Given the description of an element on the screen output the (x, y) to click on. 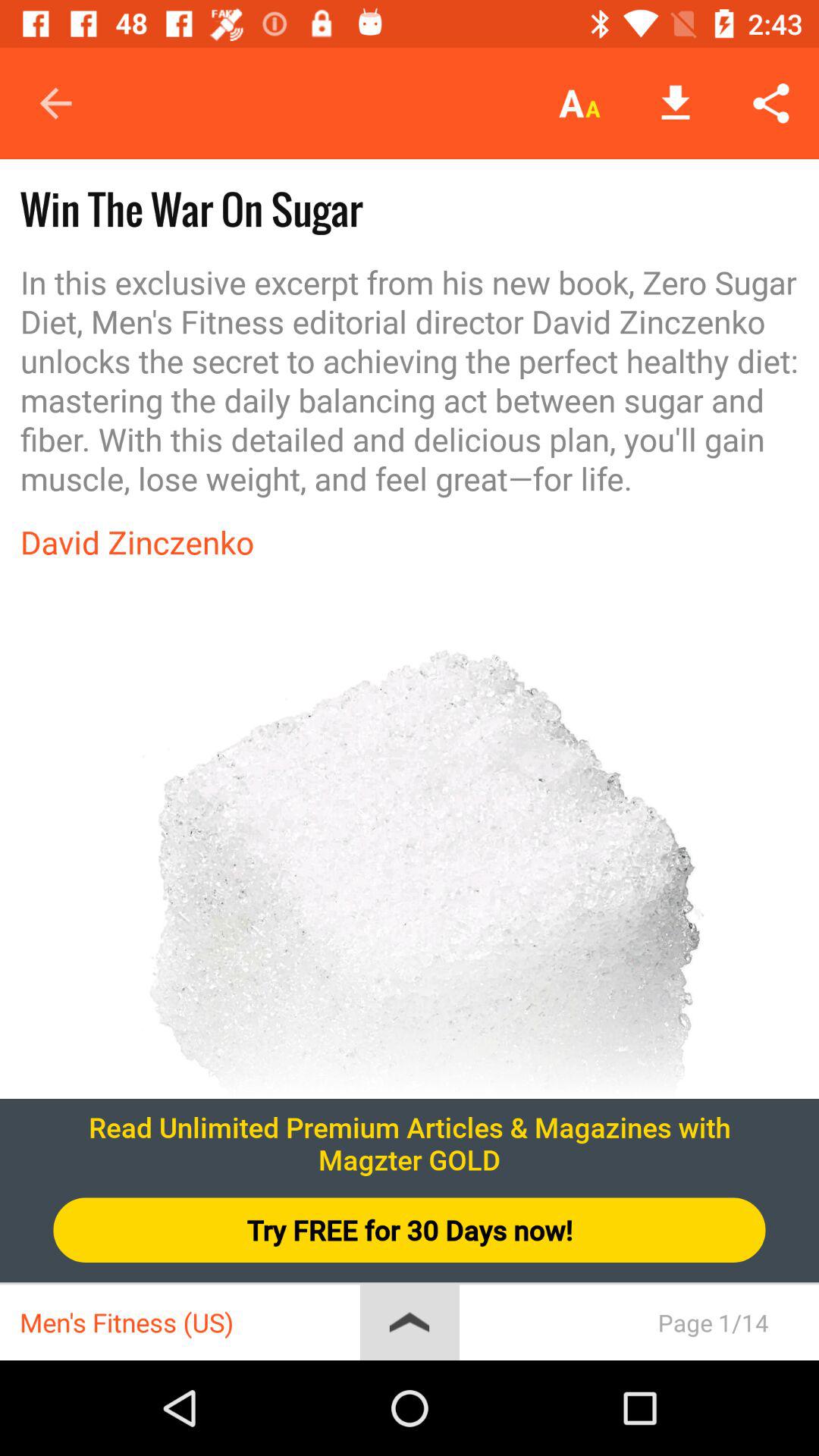
jump to the try free for (409, 1229)
